Given the description of an element on the screen output the (x, y) to click on. 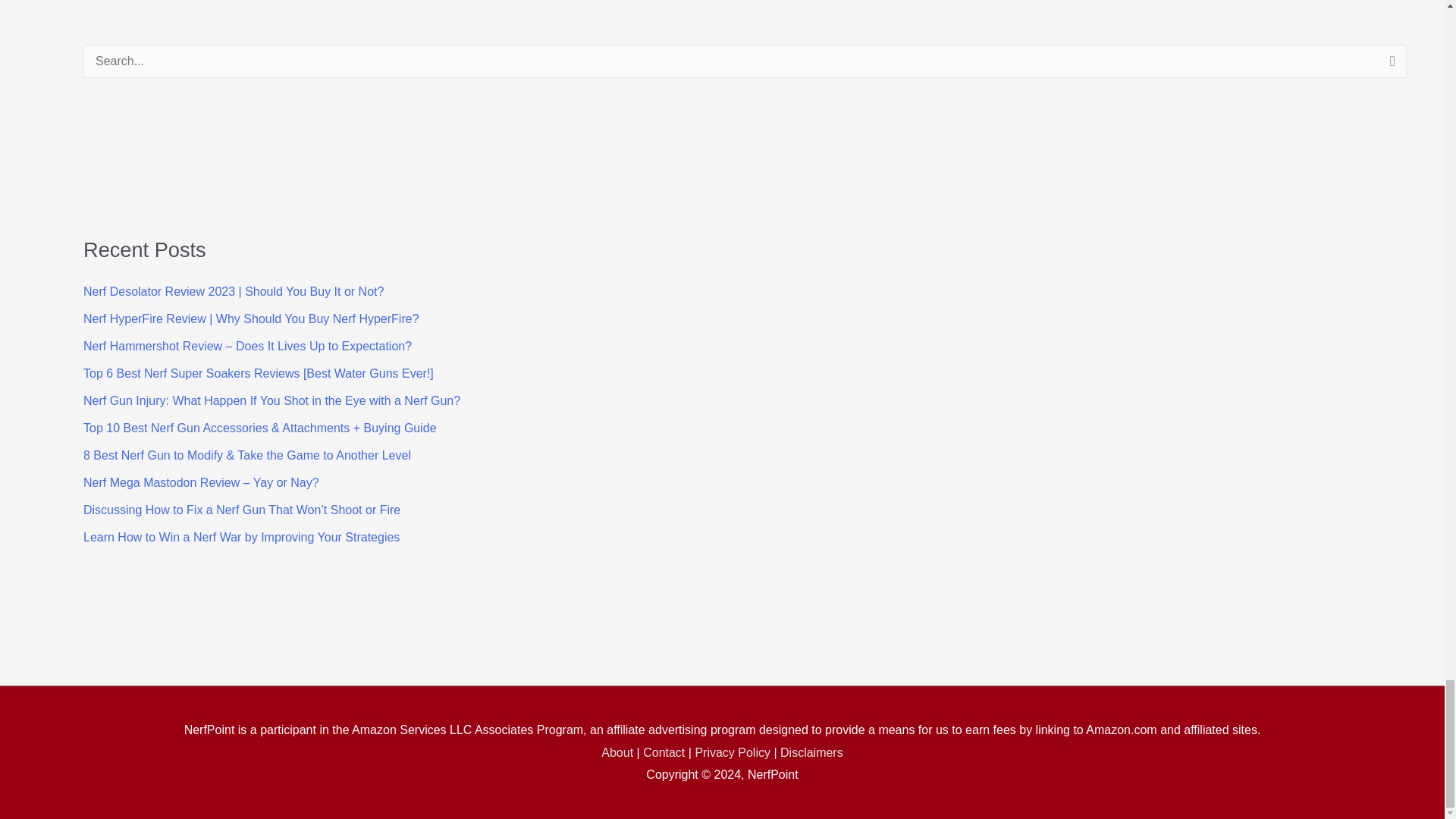
Search (1389, 65)
Search (1389, 65)
Search (1389, 65)
